Given the description of an element on the screen output the (x, y) to click on. 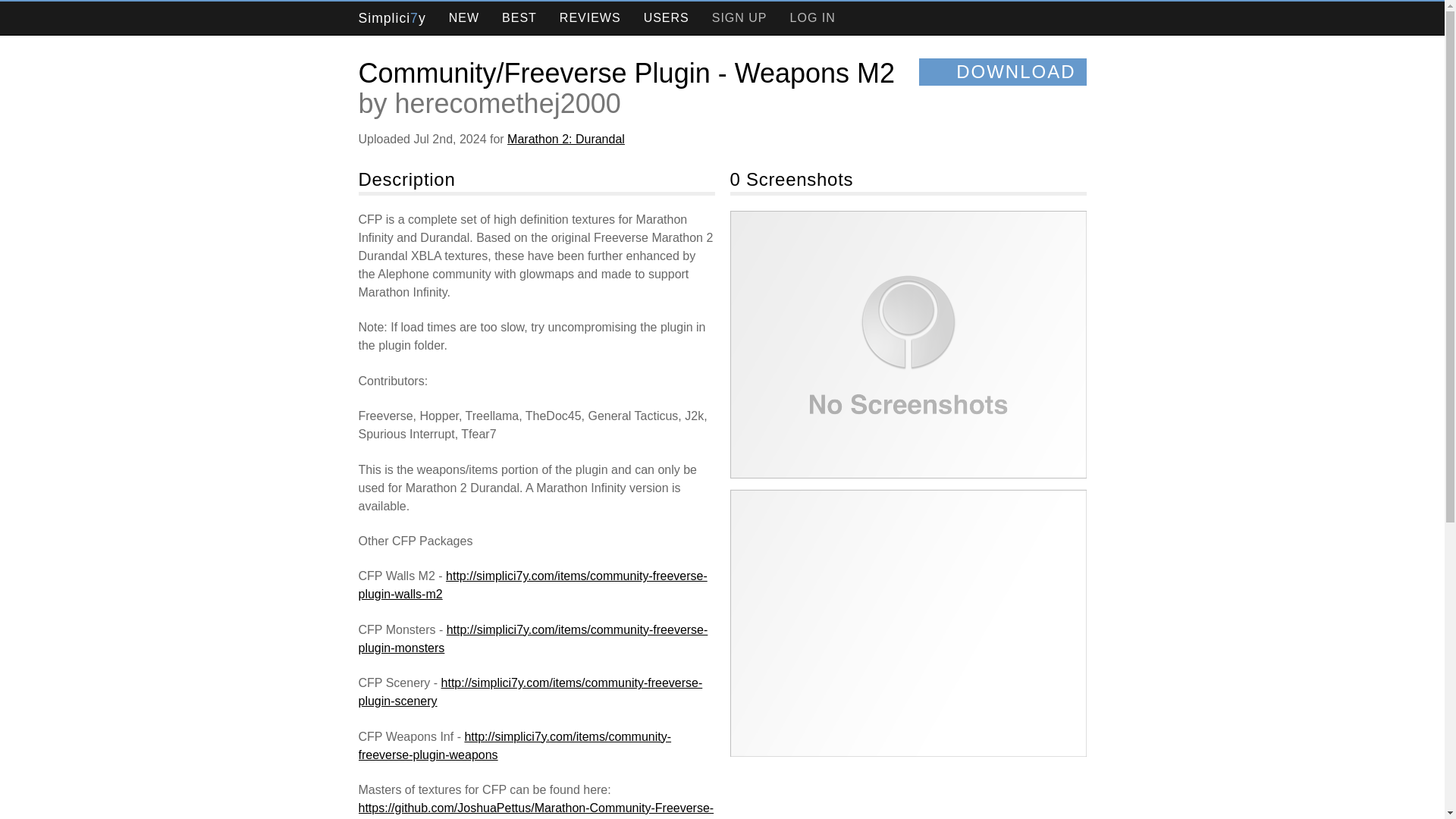
REVIEWS (589, 17)
Simplici7y (391, 17)
DOWNLOAD (1002, 71)
Marathon 2: Durandal (565, 138)
SIGN UP (739, 17)
LOG IN (813, 17)
herecomethej2000 (507, 102)
BEST (519, 17)
USERS (666, 17)
NEW (463, 17)
